Given the description of an element on the screen output the (x, y) to click on. 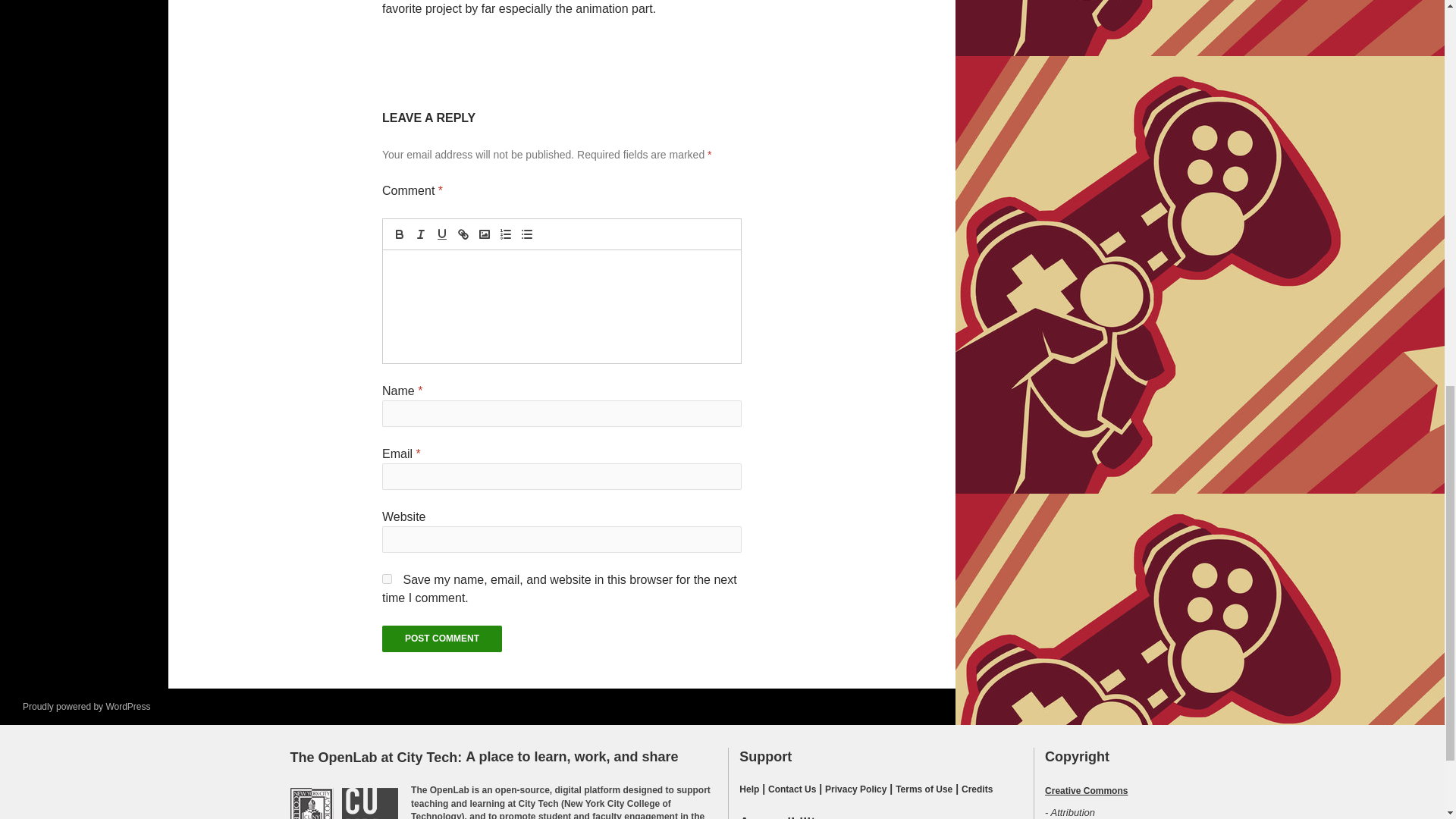
yes (386, 578)
Post Comment (441, 638)
